Given the description of an element on the screen output the (x, y) to click on. 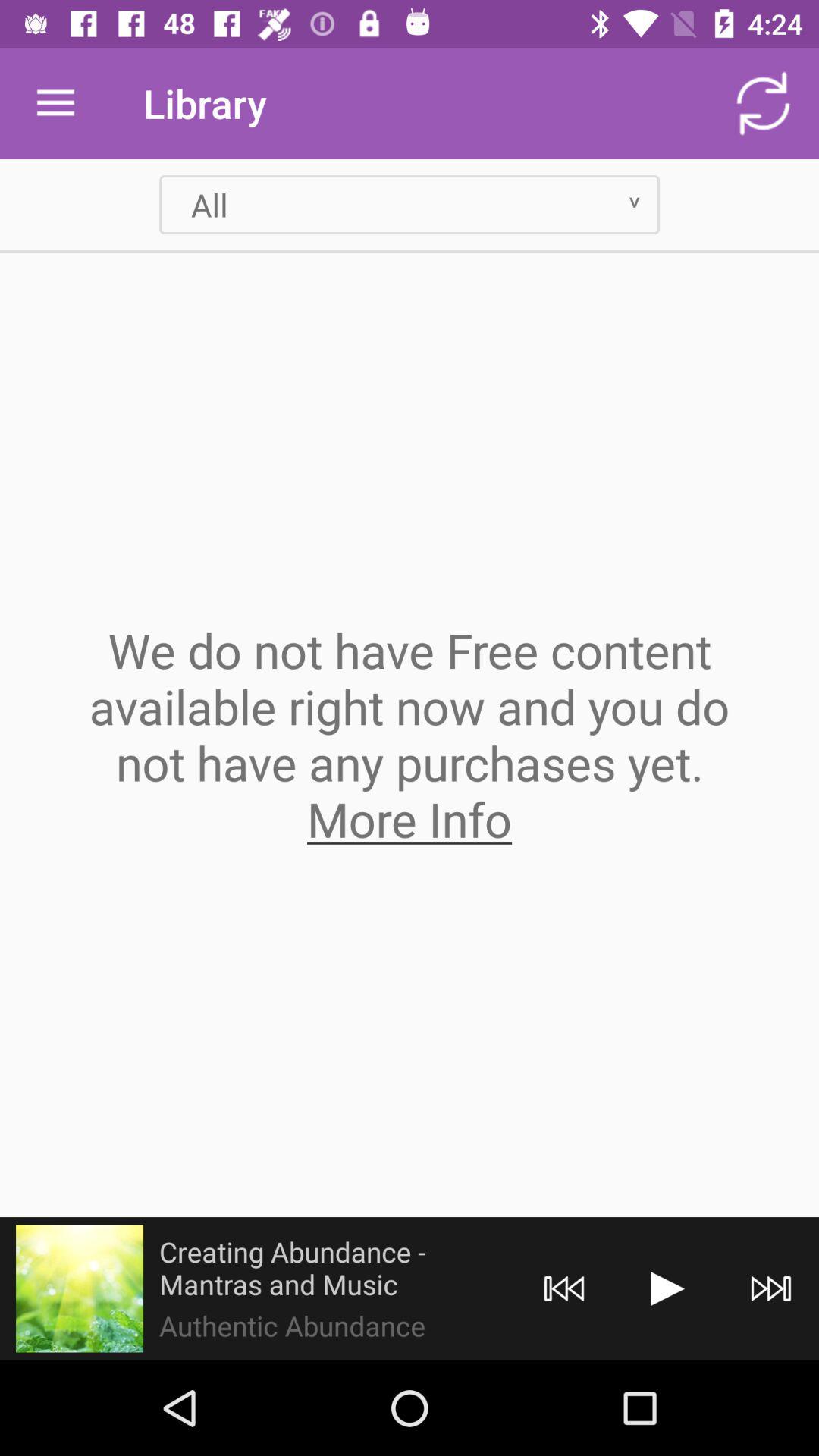
go to next sample (667, 1288)
